Given the description of an element on the screen output the (x, y) to click on. 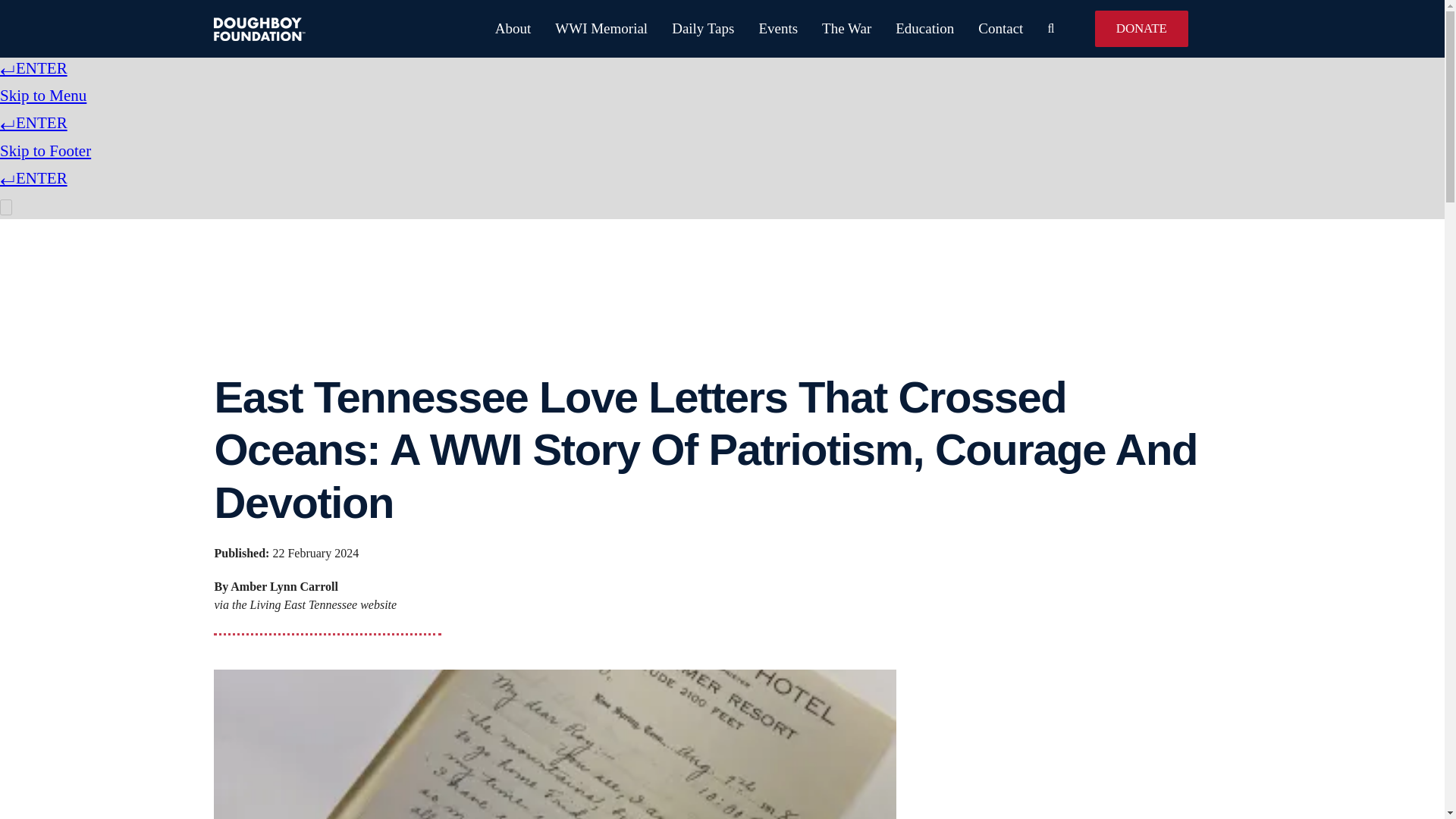
WWI Memorial (589, 29)
Tennessee letter (555, 744)
Education (911, 29)
The War (833, 29)
Events (765, 29)
Contact (988, 29)
About (500, 29)
Daily Taps (690, 29)
doughboy-logo-white-31h (259, 28)
